Given the description of an element on the screen output the (x, y) to click on. 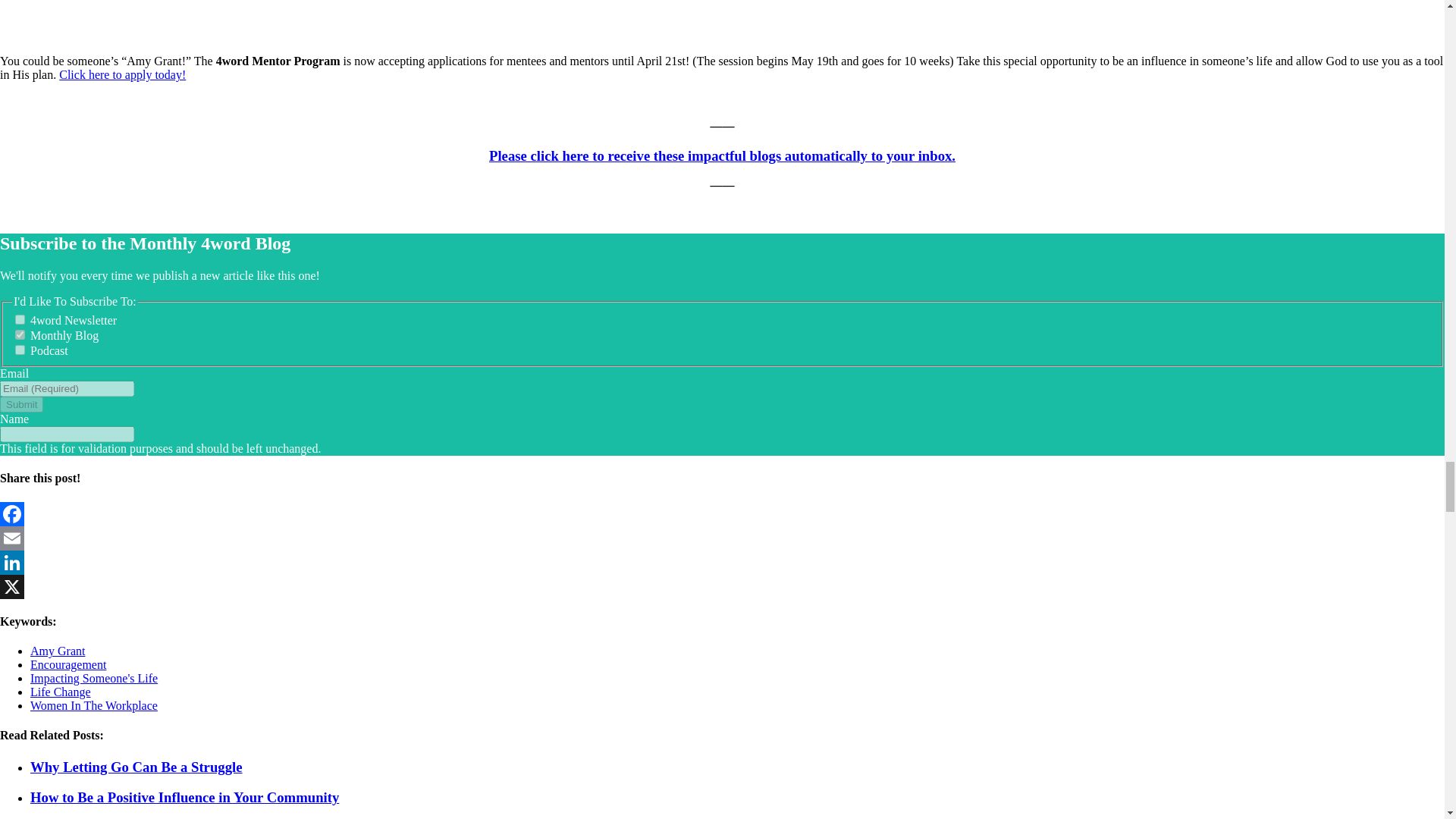
blog (19, 334)
podcast (19, 349)
Submit (21, 404)
friday-faves (19, 319)
